Given the description of an element on the screen output the (x, y) to click on. 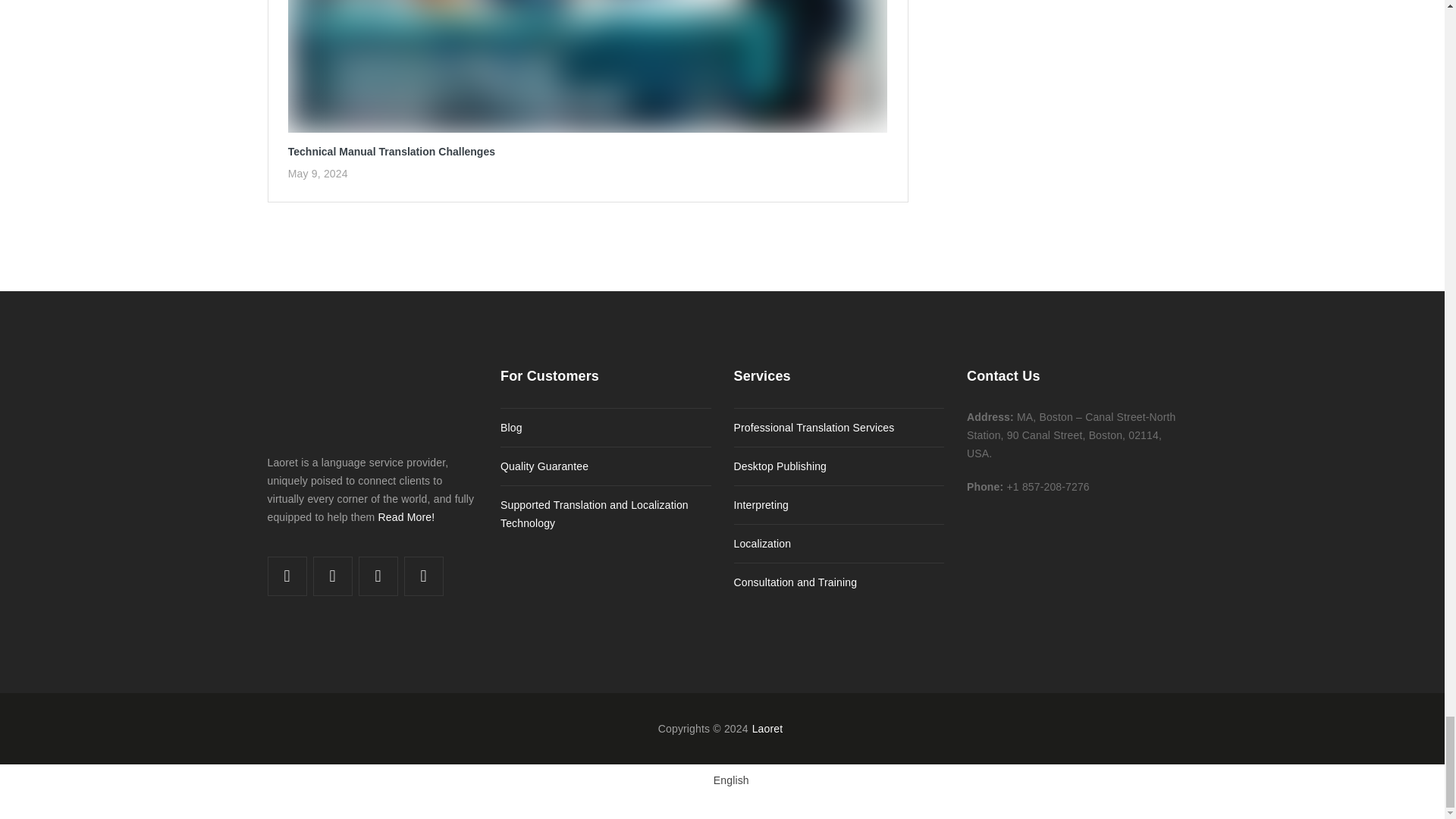
Facebook (286, 576)
LinkedIn (378, 576)
Instagram (423, 576)
Twitter (333, 576)
